Given the description of an element on the screen output the (x, y) to click on. 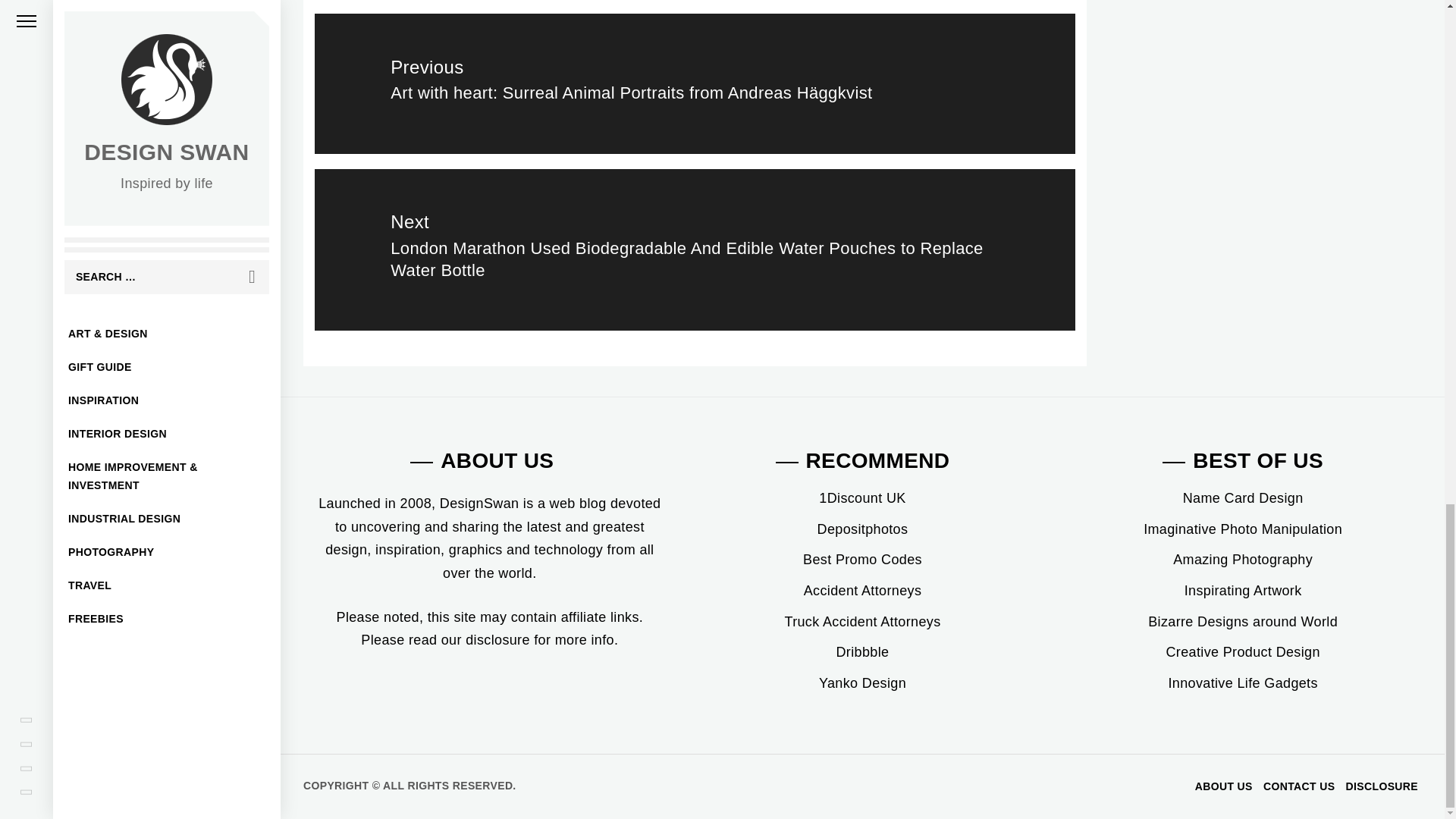
Name Card Design (1242, 498)
Imaginative Photo Manipulation (1242, 529)
UK Voucher Codes (861, 498)
